Given the description of an element on the screen output the (x, y) to click on. 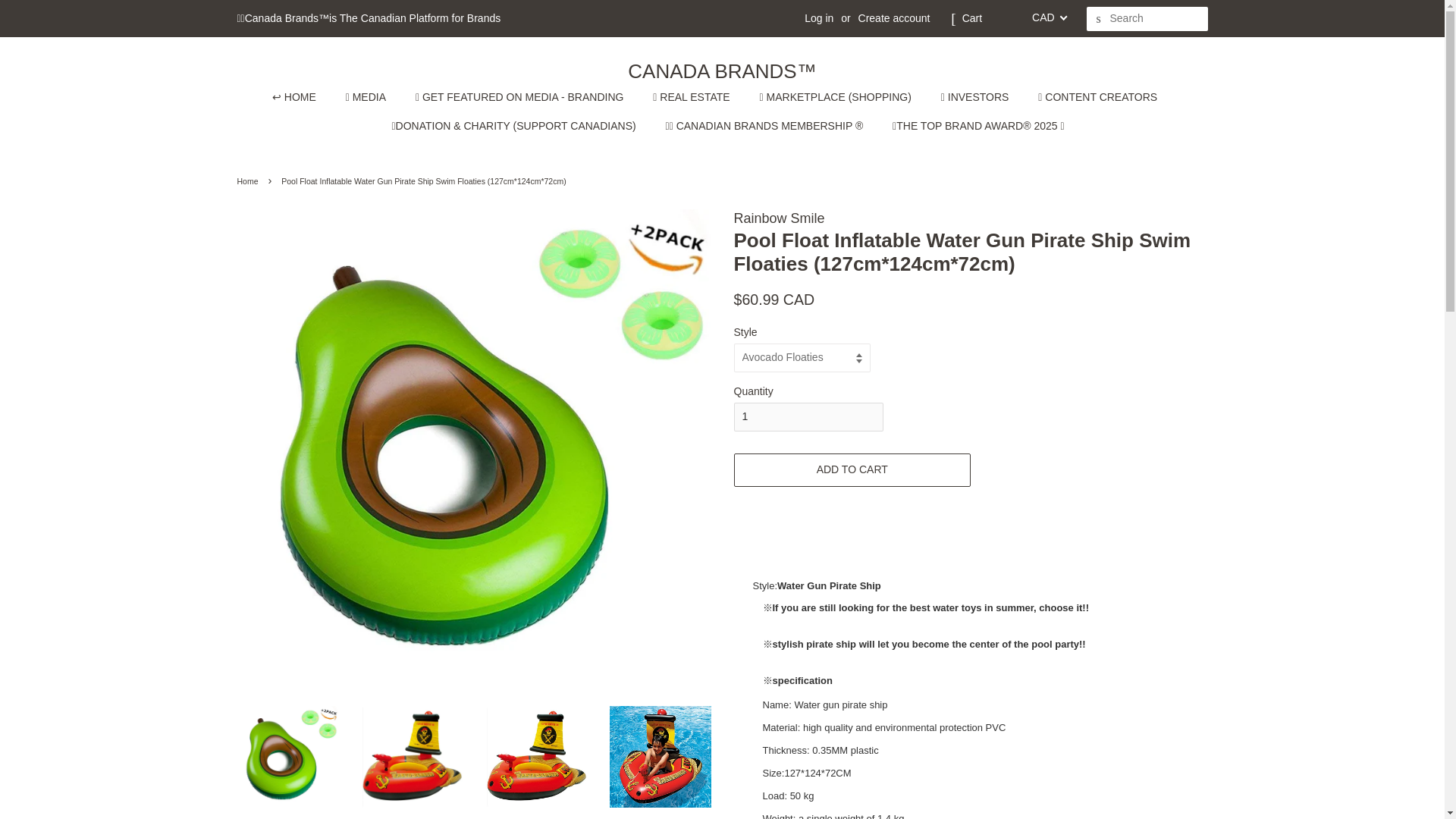
SEARCH (1097, 18)
Home (248, 180)
Create account (894, 18)
Log in (818, 18)
Cart (971, 18)
1 (808, 416)
Back to the frontpage (248, 180)
